Given the description of an element on the screen output the (x, y) to click on. 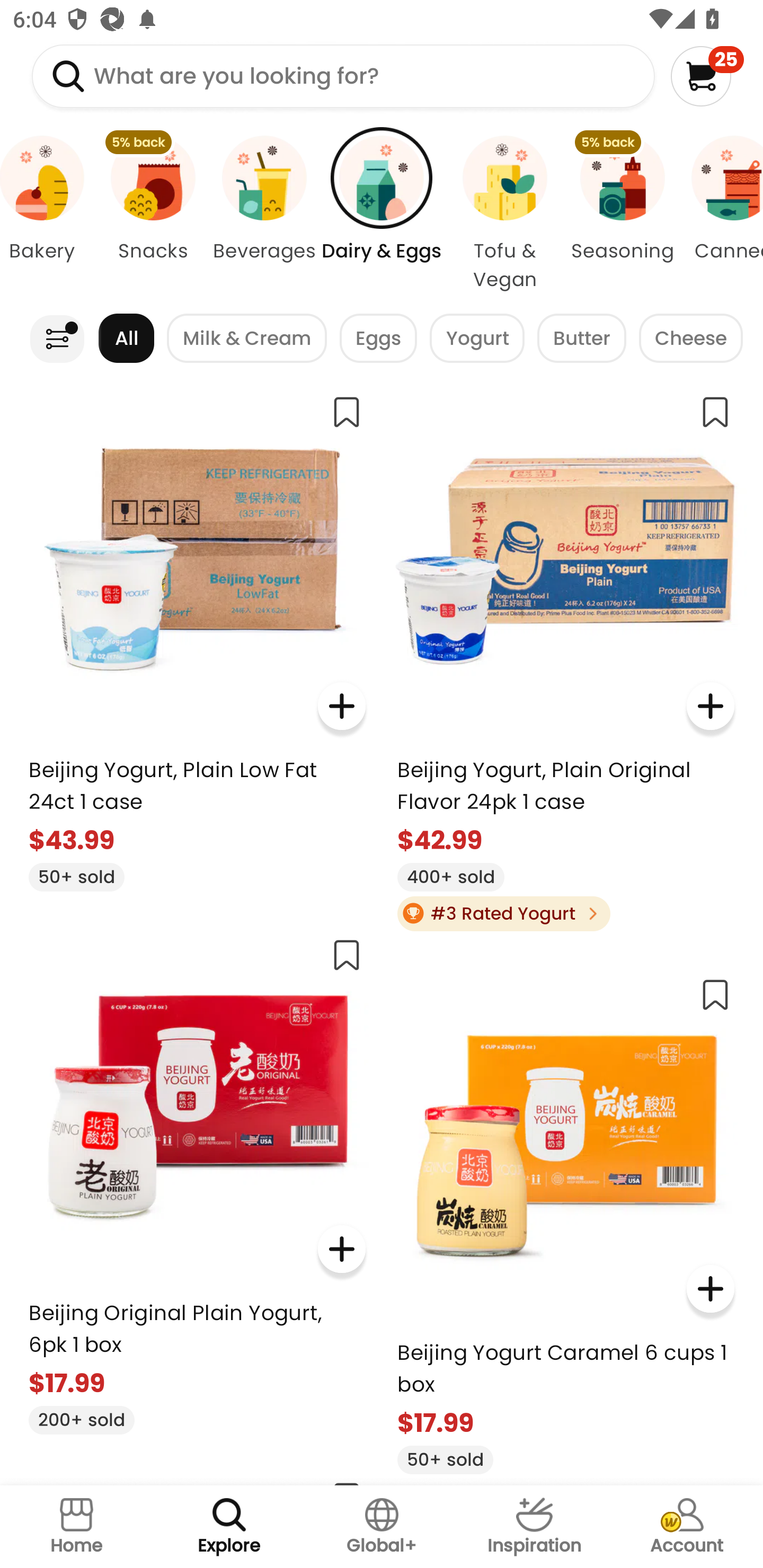
What are you looking for? (343, 75)
25 (706, 75)
Bakery (48, 214)
5% back Snacks (153, 214)
Beverages (264, 214)
Dairy & Eggs (381, 214)
Tofu & Vegan (504, 214)
5% back Seasoning (622, 214)
Canned (720, 214)
All (126, 337)
Milk & Cream (246, 337)
Eggs (378, 337)
Yogurt (476, 337)
Butter (581, 337)
Cheese (691, 337)
Home (76, 1526)
Explore (228, 1526)
Global+ (381, 1526)
Inspiration (533, 1526)
Account (686, 1526)
